Given the description of an element on the screen output the (x, y) to click on. 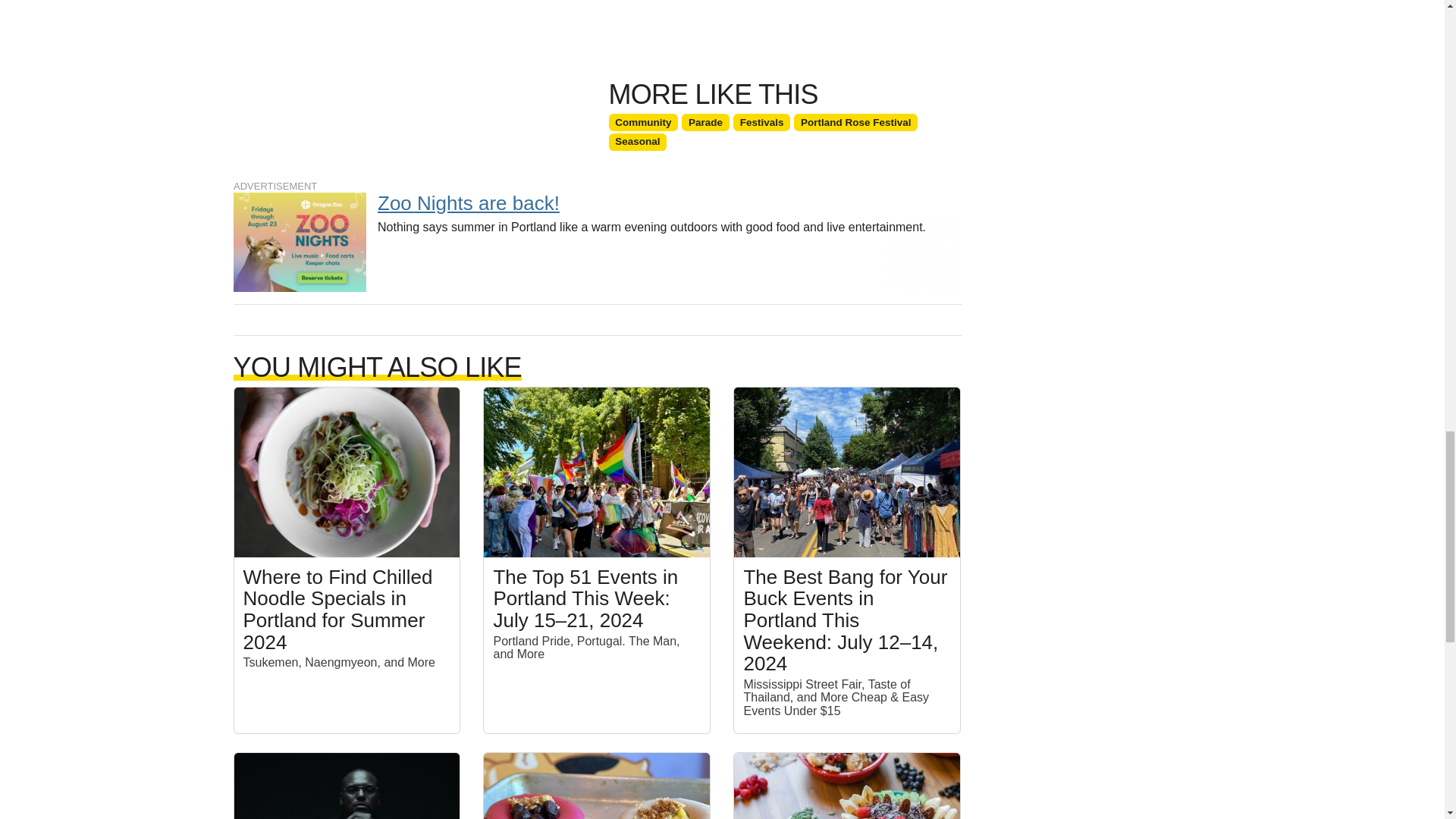
3rd party ad content (596, 235)
